Given the description of an element on the screen output the (x, y) to click on. 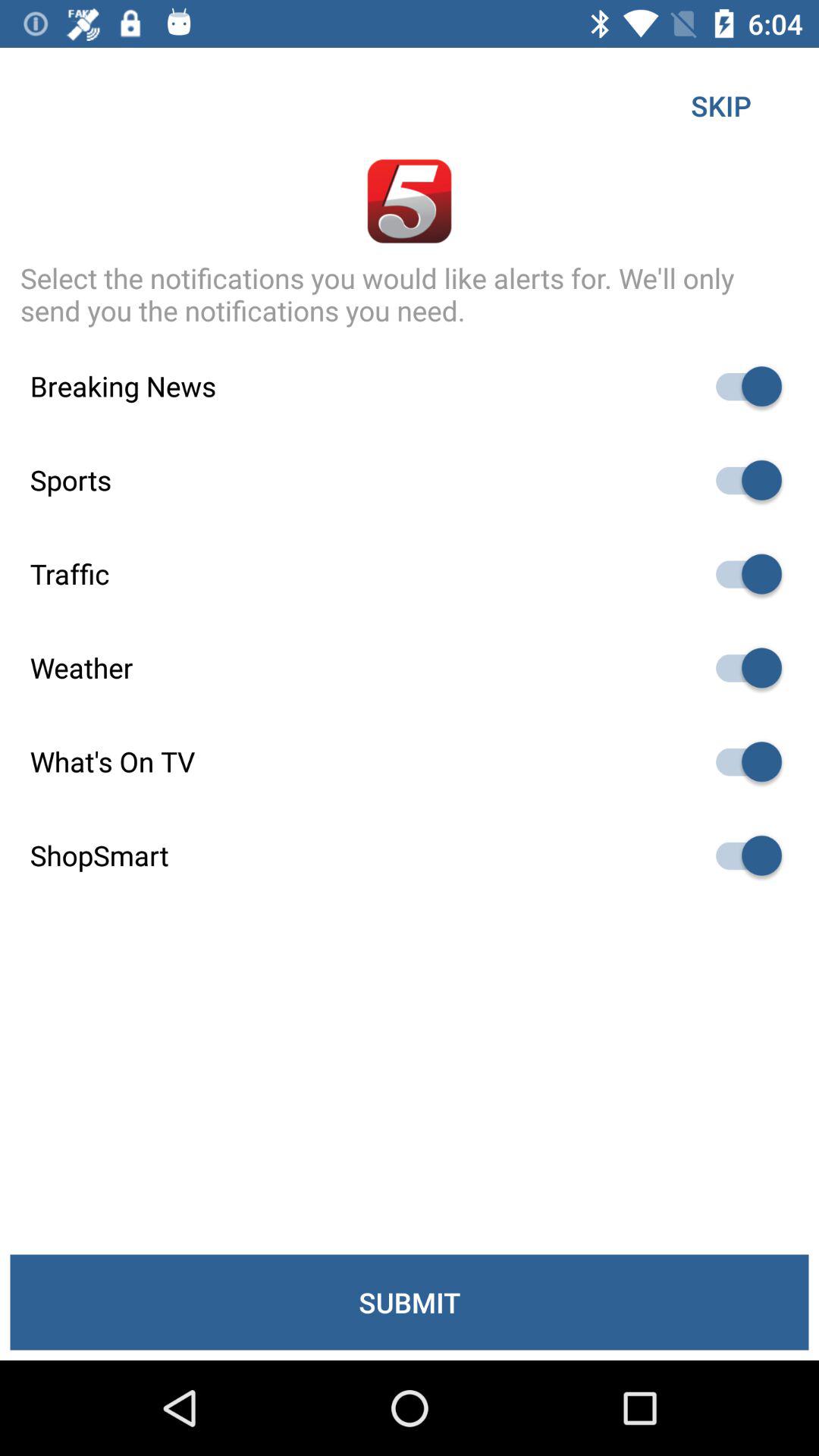
toggle breaking news option (741, 386)
